Given the description of an element on the screen output the (x, y) to click on. 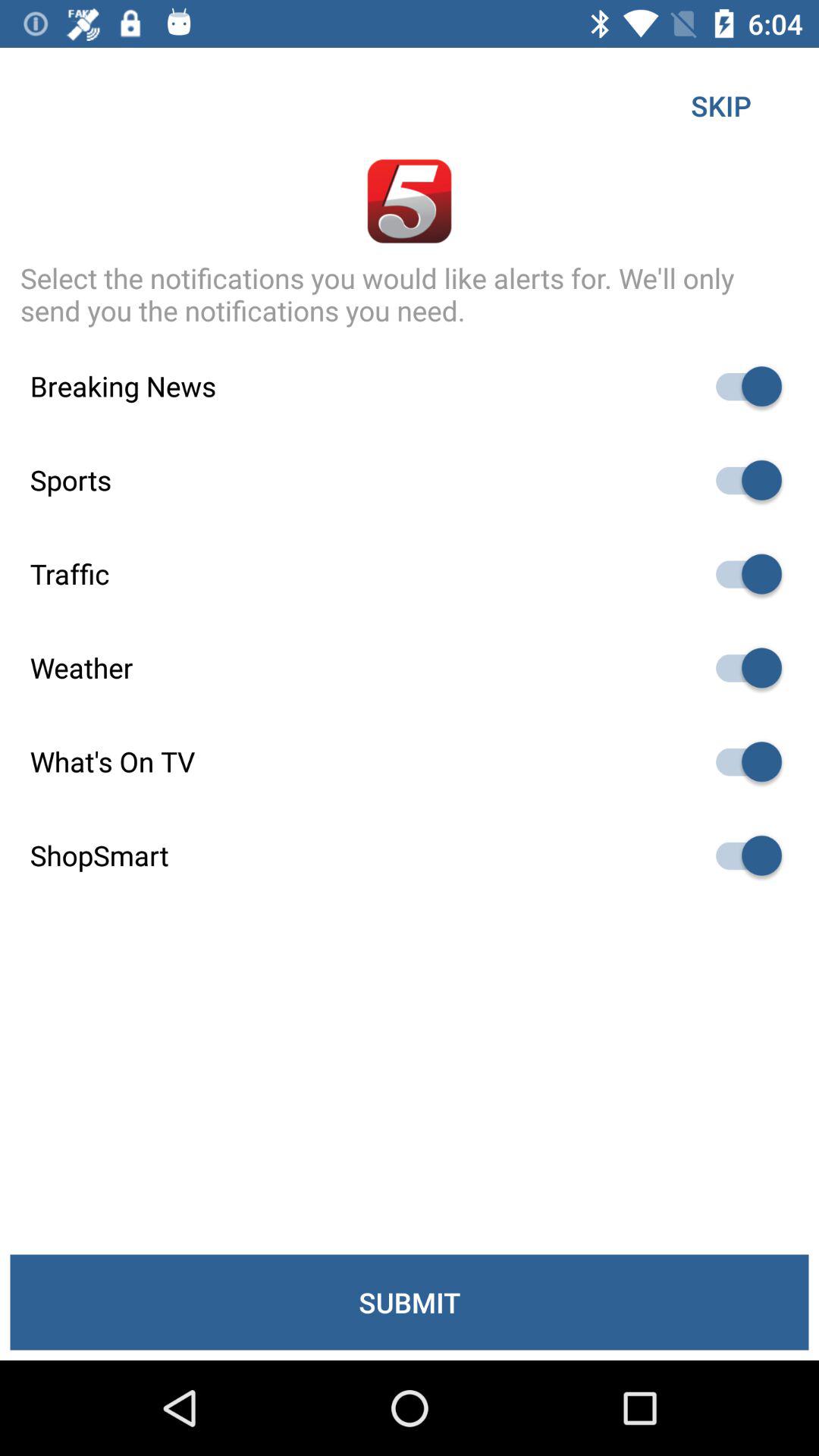
toggle breaking news option (741, 386)
